Given the description of an element on the screen output the (x, y) to click on. 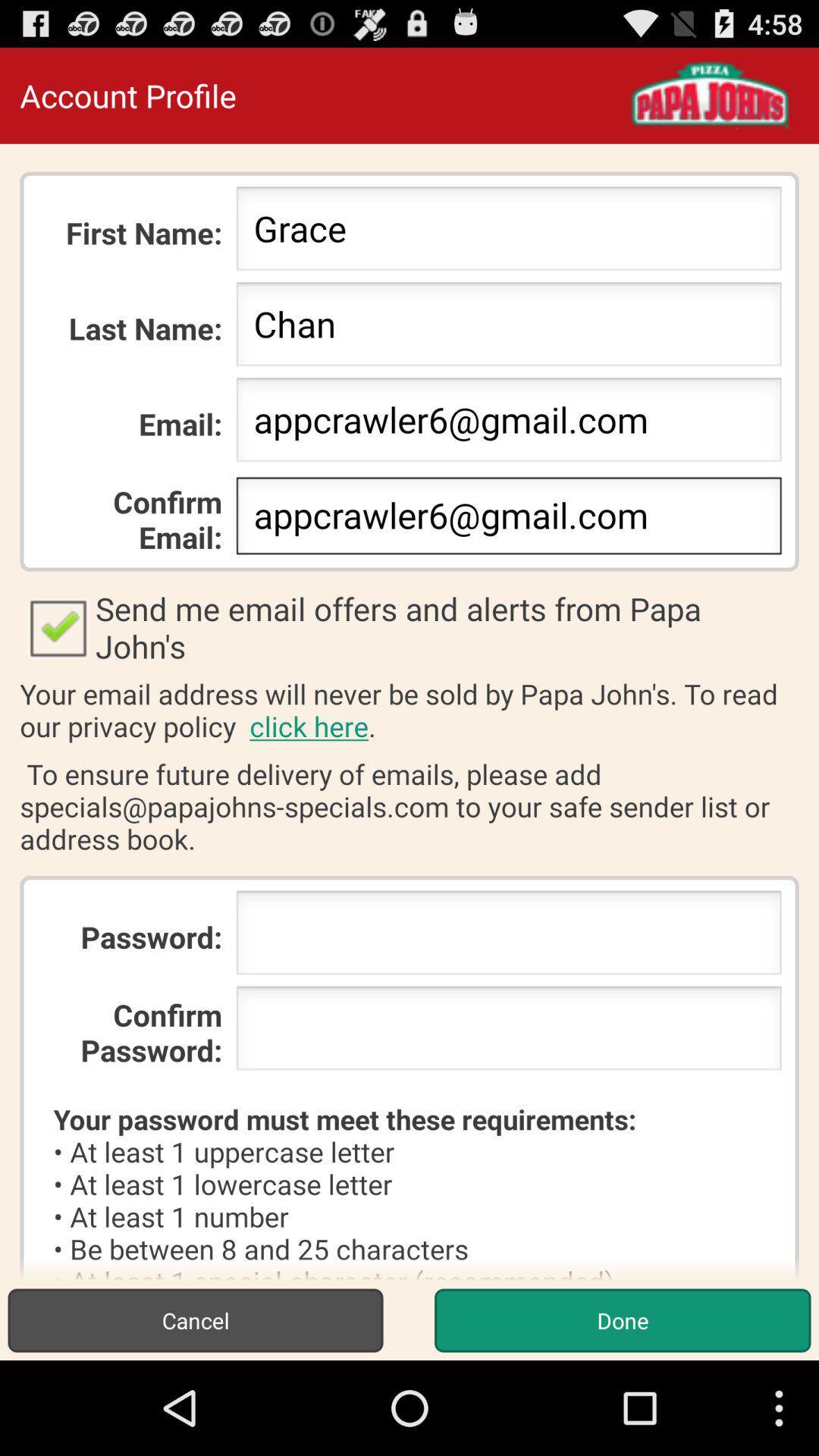
tap the send me email (409, 627)
